Given the description of an element on the screen output the (x, y) to click on. 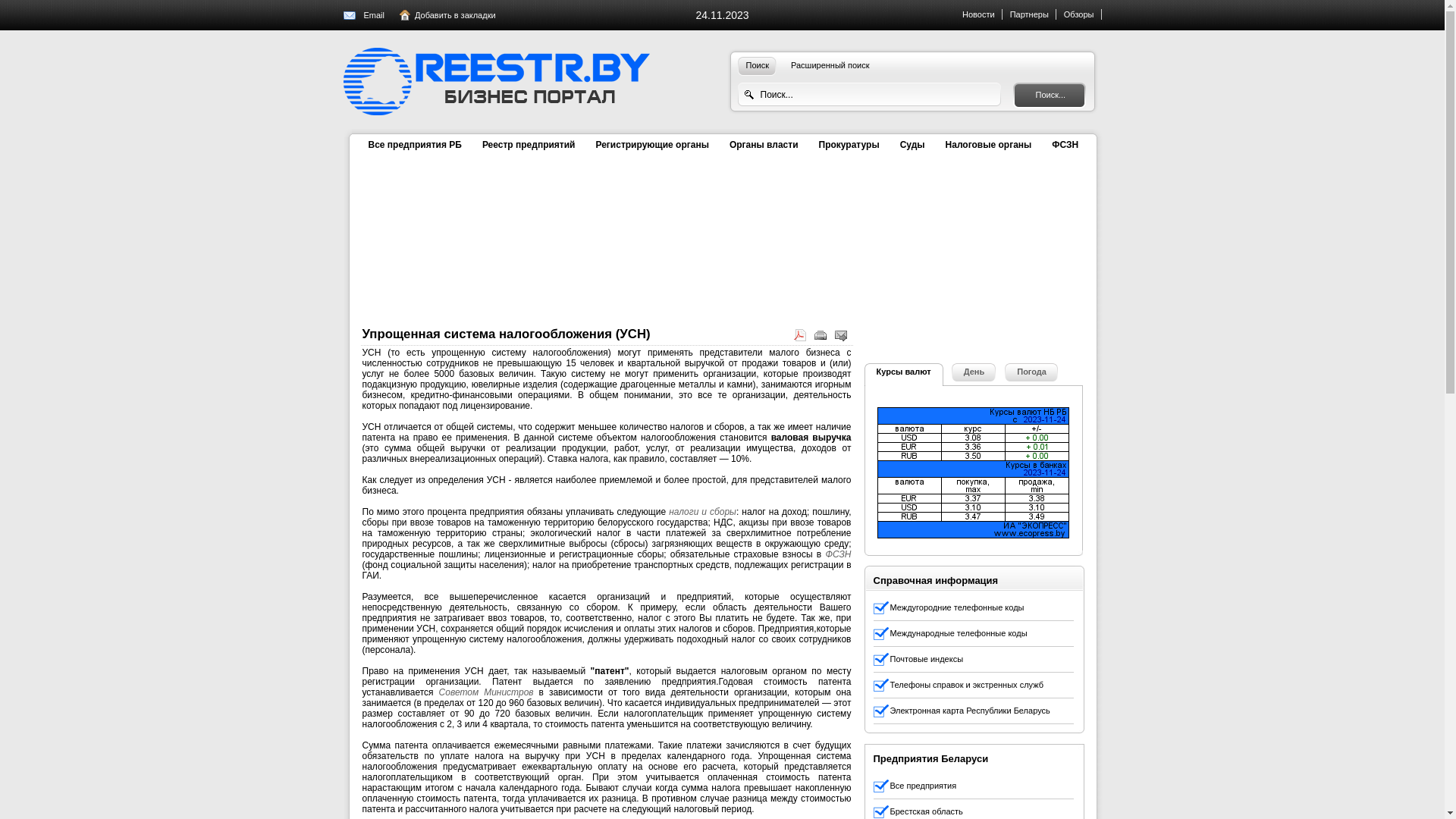
Advertisement Element type: hover (978, 263)
Advertisement Element type: hover (605, 244)
PDF Element type: hover (801, 337)
Email Element type: text (380, 15)
E-mail Element type: hover (842, 337)
